Given the description of an element on the screen output the (x, y) to click on. 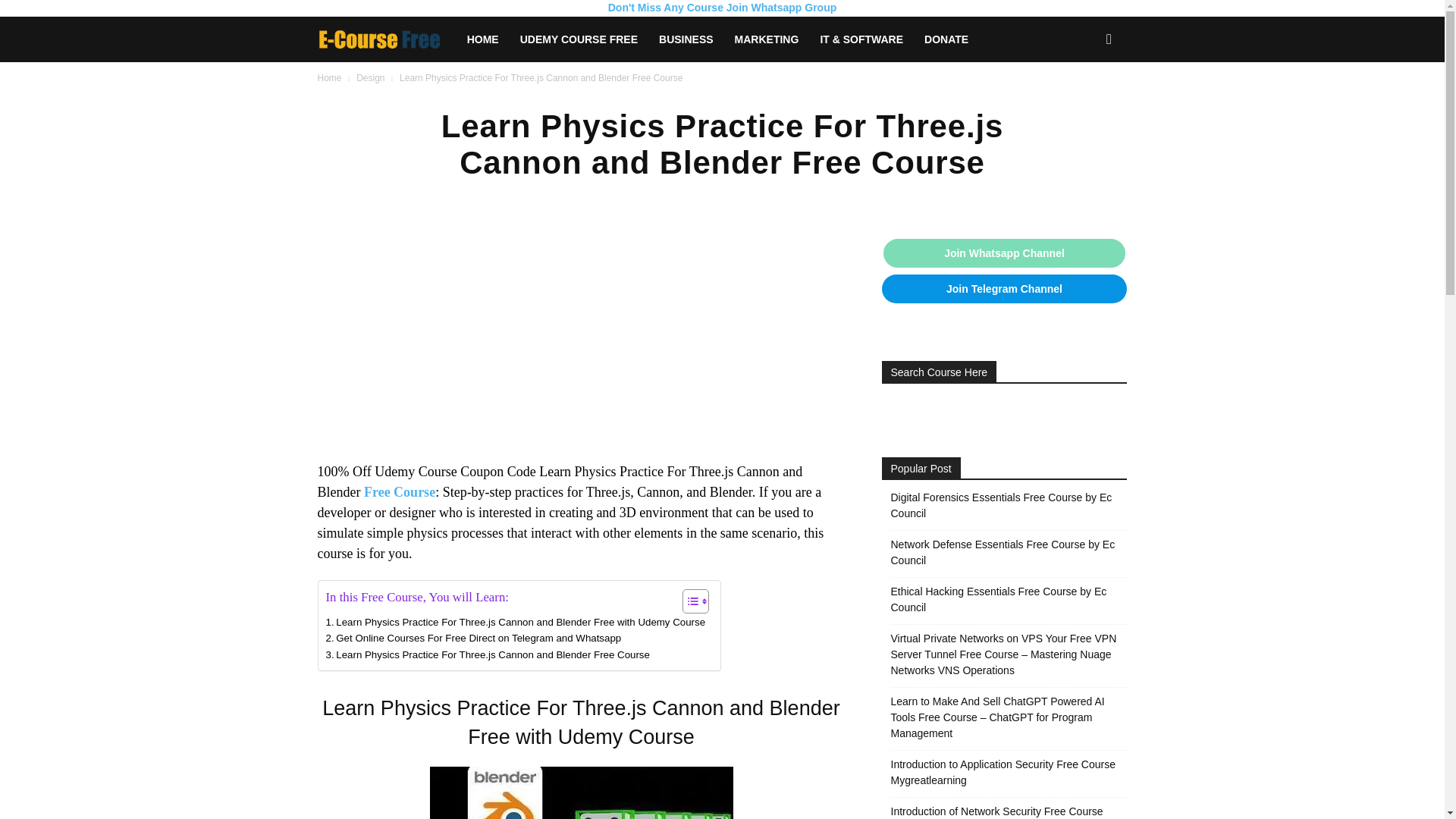
HOME (483, 39)
View all posts in Design (370, 77)
E- Course free (379, 40)
Get Online Courses For Free Direct on Telegram and Whatsapp (473, 637)
UDEMY COURSE FREE (578, 39)
DONATE (946, 39)
Advertisement (580, 349)
ecoursefree (386, 39)
